Given the description of an element on the screen output the (x, y) to click on. 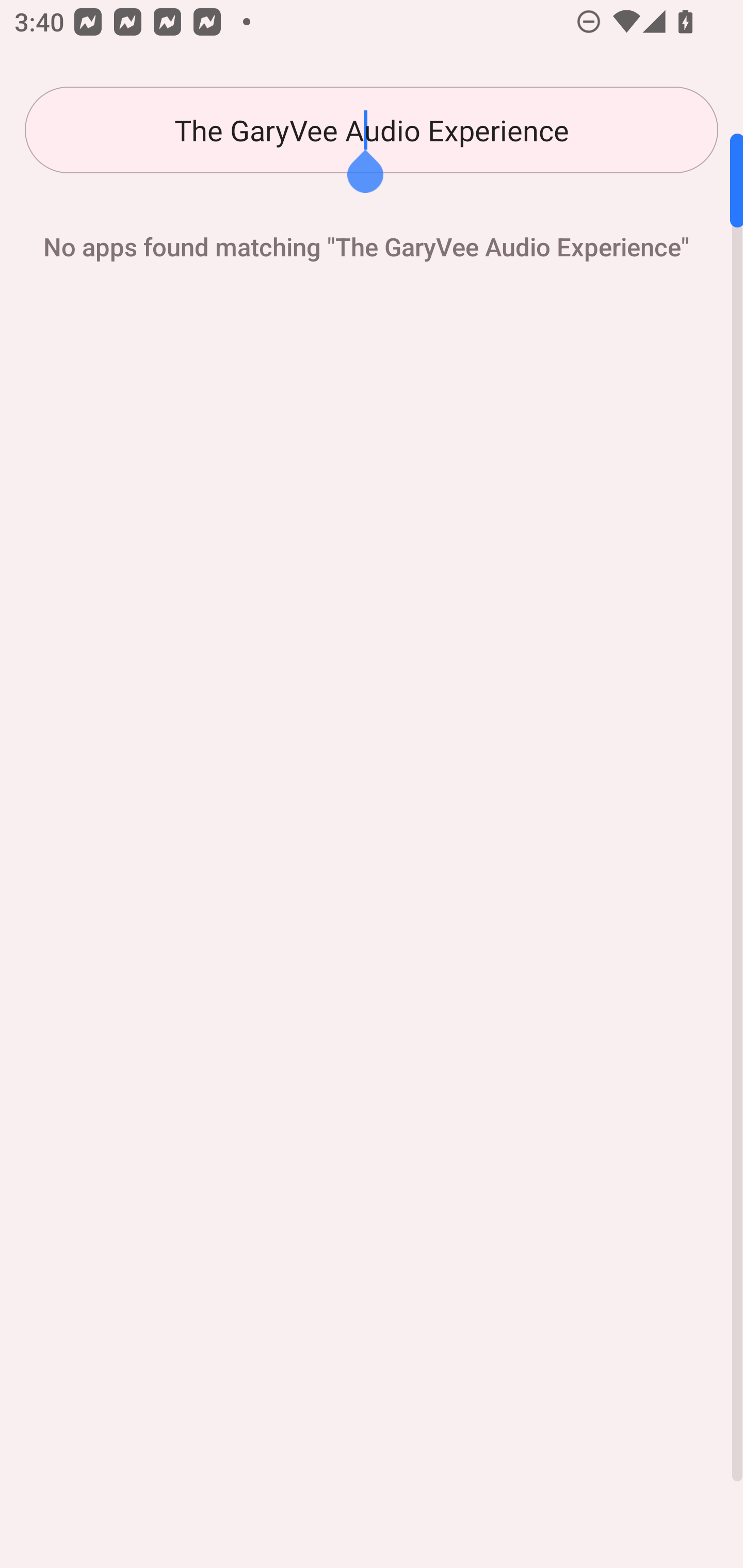
The GaryVee Audio Experience (371, 130)
